Given the description of an element on the screen output the (x, y) to click on. 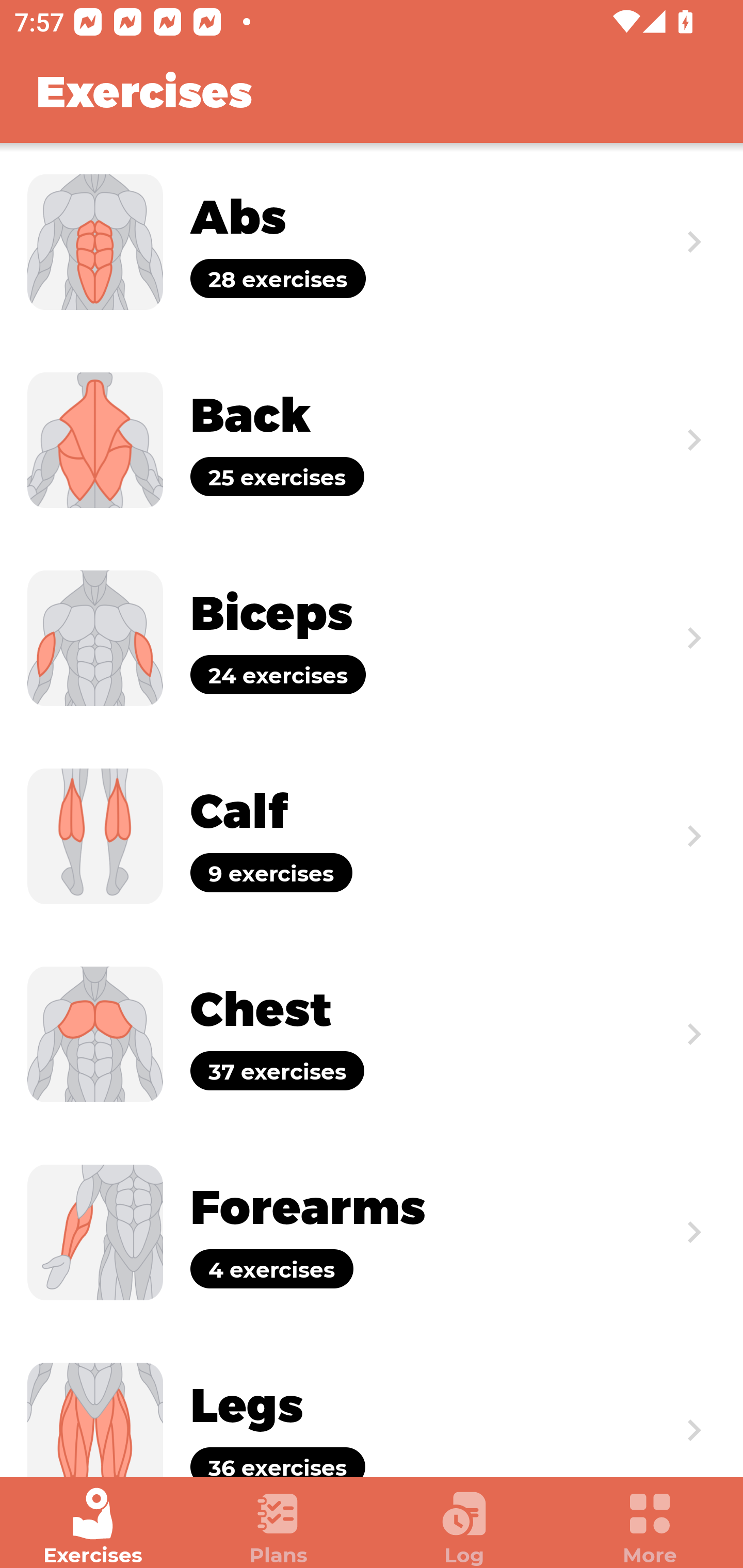
Exercise Abs 28 exercises (371, 241)
Exercise Back 25 exercises (371, 439)
Exercise Biceps 24 exercises (371, 637)
Exercise Calf 9 exercises (371, 836)
Exercise Chest 37 exercises (371, 1033)
Exercise Forearms 4 exercises (371, 1232)
Exercise Legs 36 exercises (371, 1404)
Exercises (92, 1527)
Plans (278, 1527)
Log (464, 1527)
More (650, 1527)
